Given the description of an element on the screen output the (x, y) to click on. 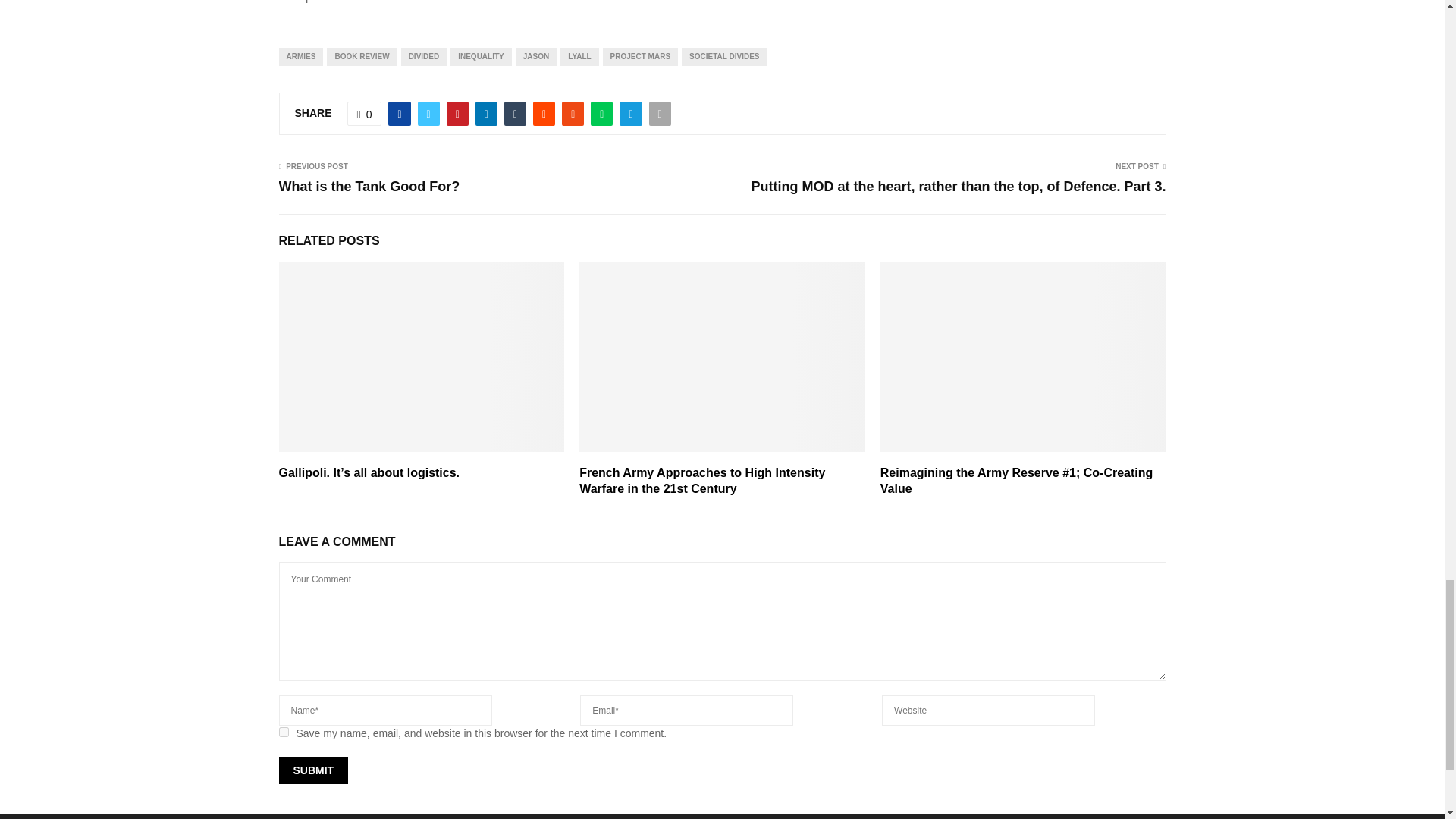
Submit (314, 769)
yes (283, 732)
